Given the description of an element on the screen output the (x, y) to click on. 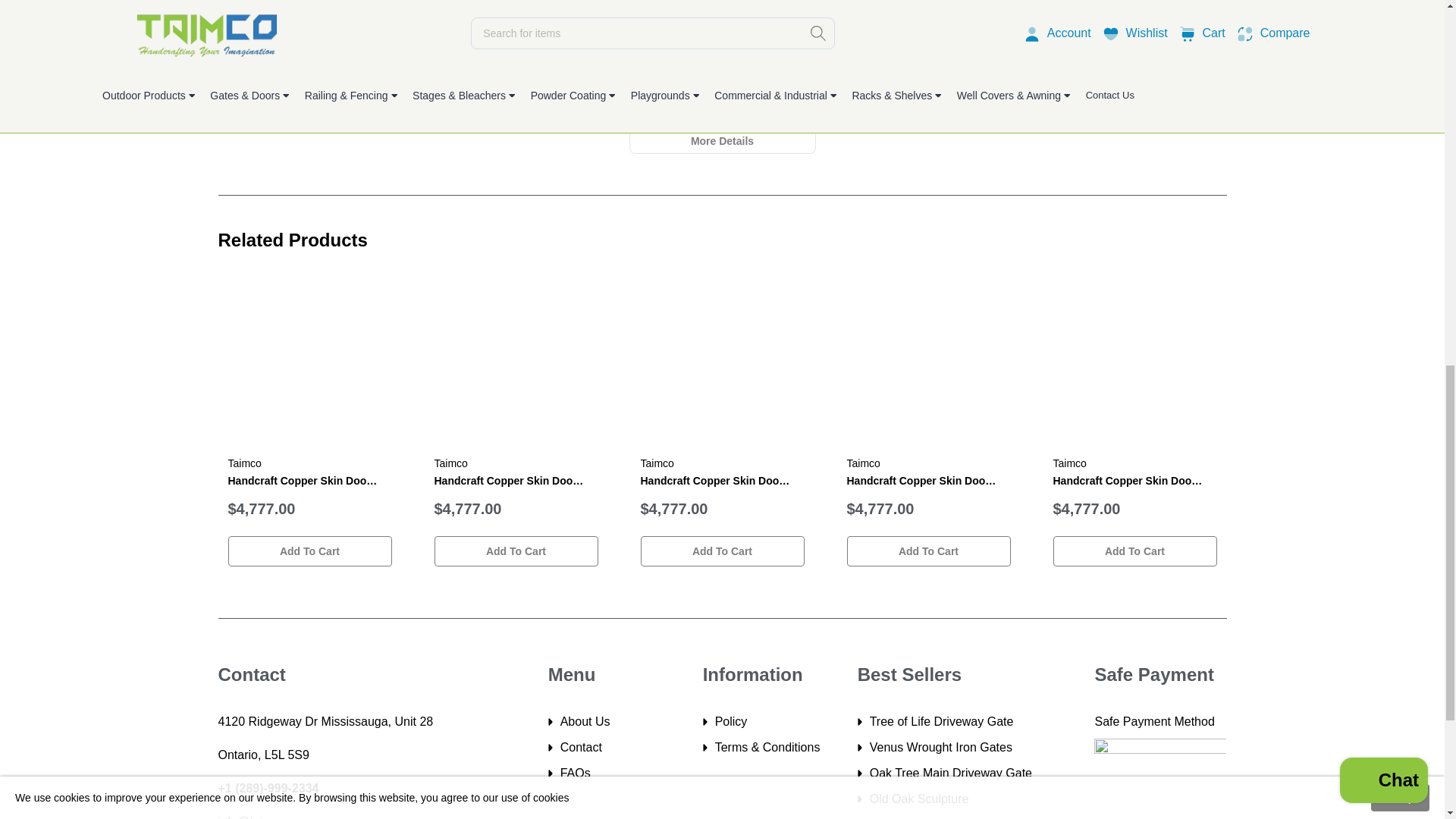
Taimco (656, 463)
Taimco (862, 463)
Taimco (1069, 463)
Taimco (450, 463)
Taimco (243, 463)
